Given the description of an element on the screen output the (x, y) to click on. 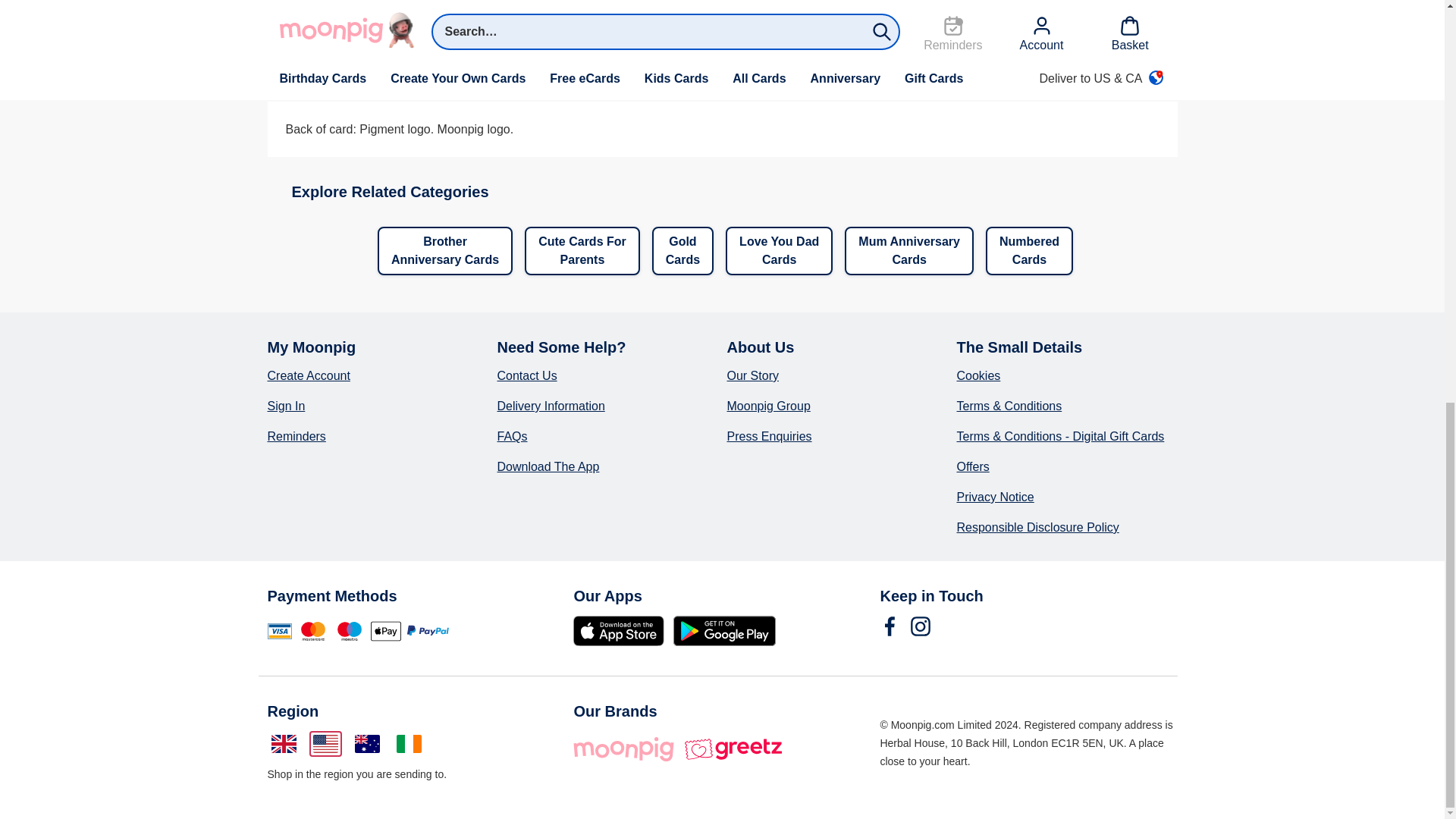
Ireland (409, 743)
Australia (366, 743)
United States of America (325, 743)
United Kingdom (282, 743)
